Given the description of an element on the screen output the (x, y) to click on. 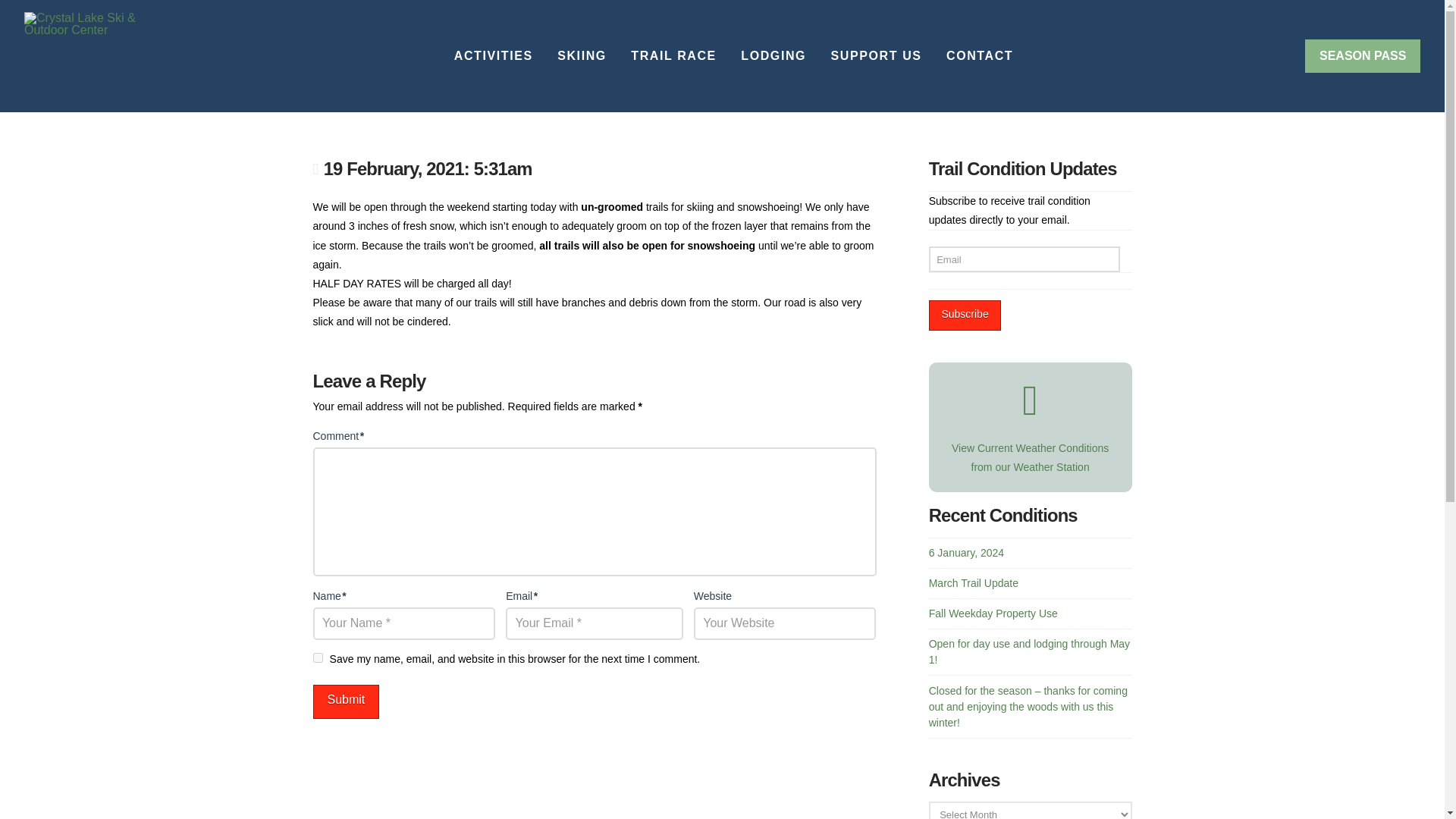
SEASON PASS (1362, 55)
yes (317, 657)
Subscribe (964, 315)
Submit (345, 701)
View Current Weather Conditions from our Weather Station (1030, 417)
ACTIVITIES (492, 55)
CONTACT (979, 55)
Fall Weekday Property Use (993, 613)
March Trail Update (972, 582)
SUPPORT US (875, 55)
